Given the description of an element on the screen output the (x, y) to click on. 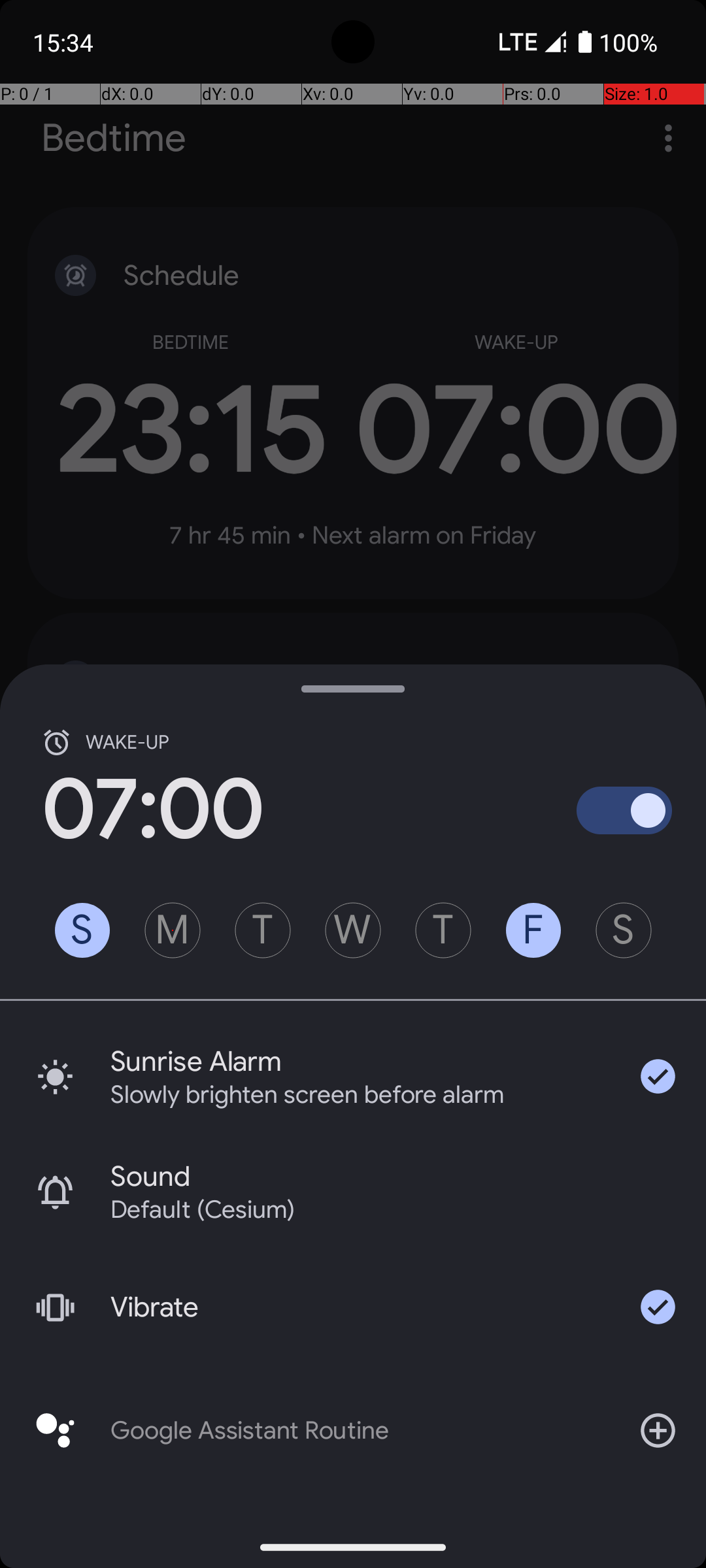
07:00 Element type: android.widget.TextView (151, 809)
Google Assistant Routine Element type: android.widget.TextView (353, 1430)
Sunrise Alarm Element type: android.widget.TextView (359, 1061)
Slowly brighten screen before alarm Element type: android.widget.TextView (342, 1094)
Sound Element type: android.widget.TextView (408, 1176)
